Given the description of an element on the screen output the (x, y) to click on. 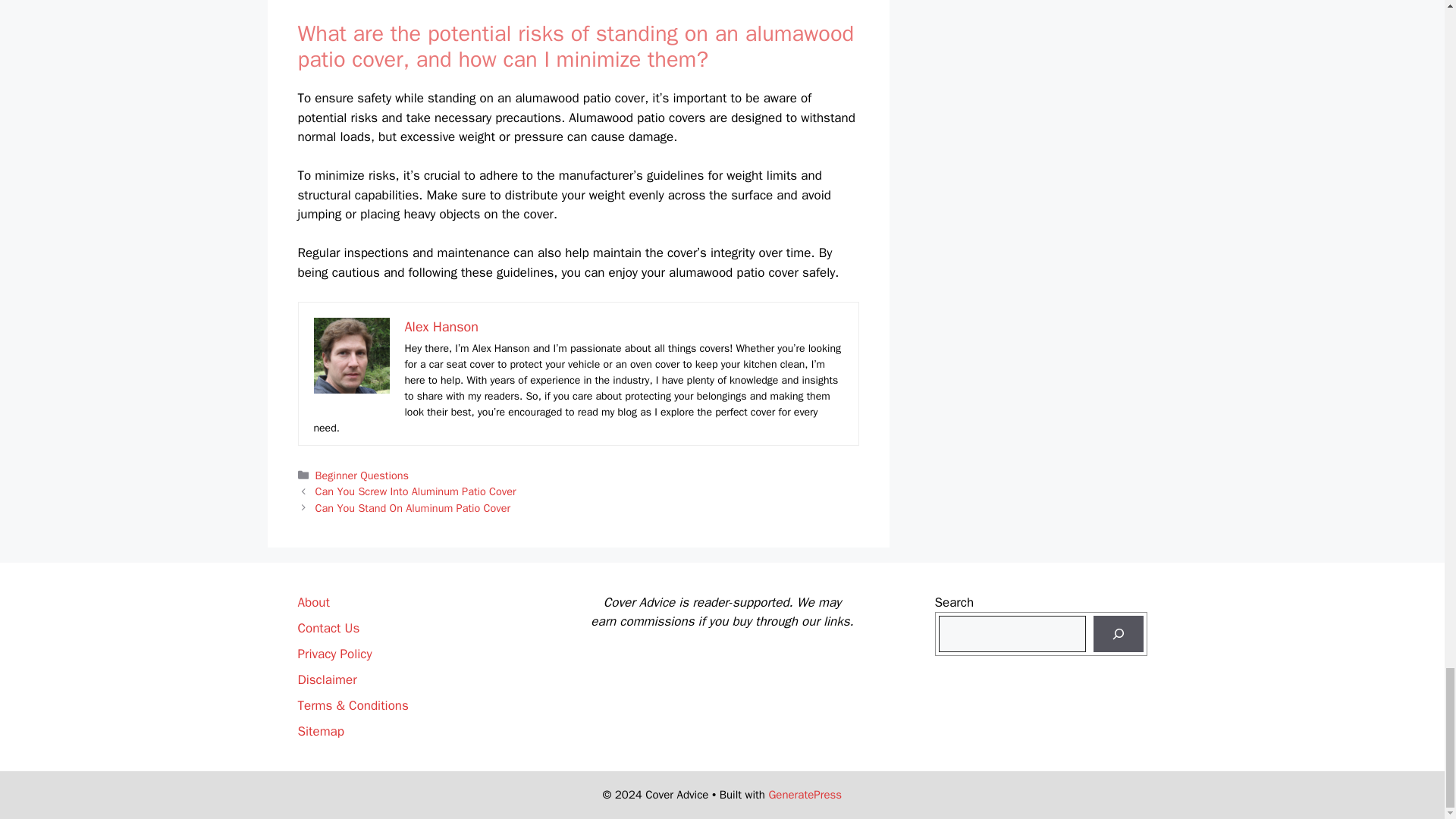
Sitemap (320, 731)
Can You Screw Into Aluminum Patio Cover (415, 490)
Contact Us (328, 627)
Beginner Questions (362, 475)
GeneratePress (804, 794)
Alex Hanson (441, 326)
Privacy Policy (334, 653)
Disclaimer (326, 679)
Can You Stand On Aluminum Patio Cover (413, 508)
About (313, 602)
